Given the description of an element on the screen output the (x, y) to click on. 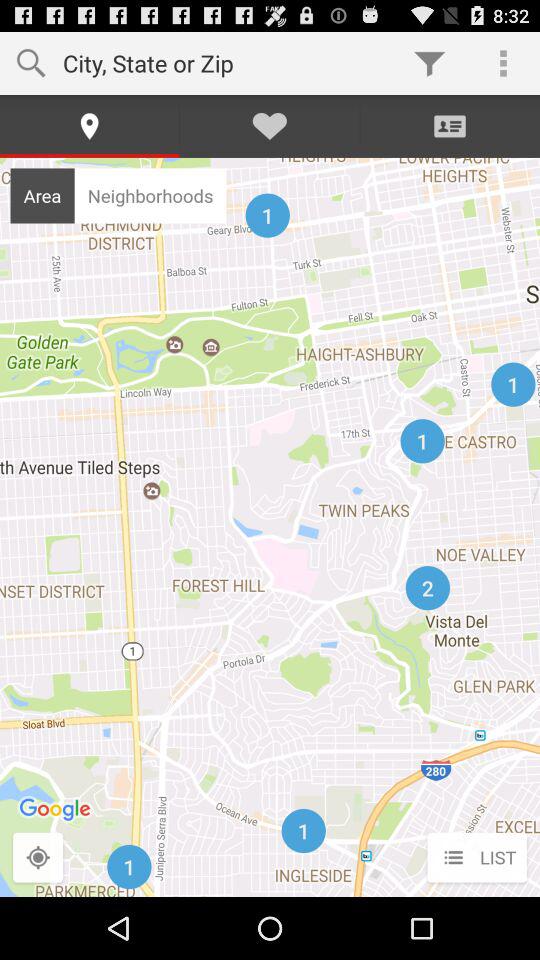
turn off item next to neighborhoods icon (42, 195)
